Given the description of an element on the screen output the (x, y) to click on. 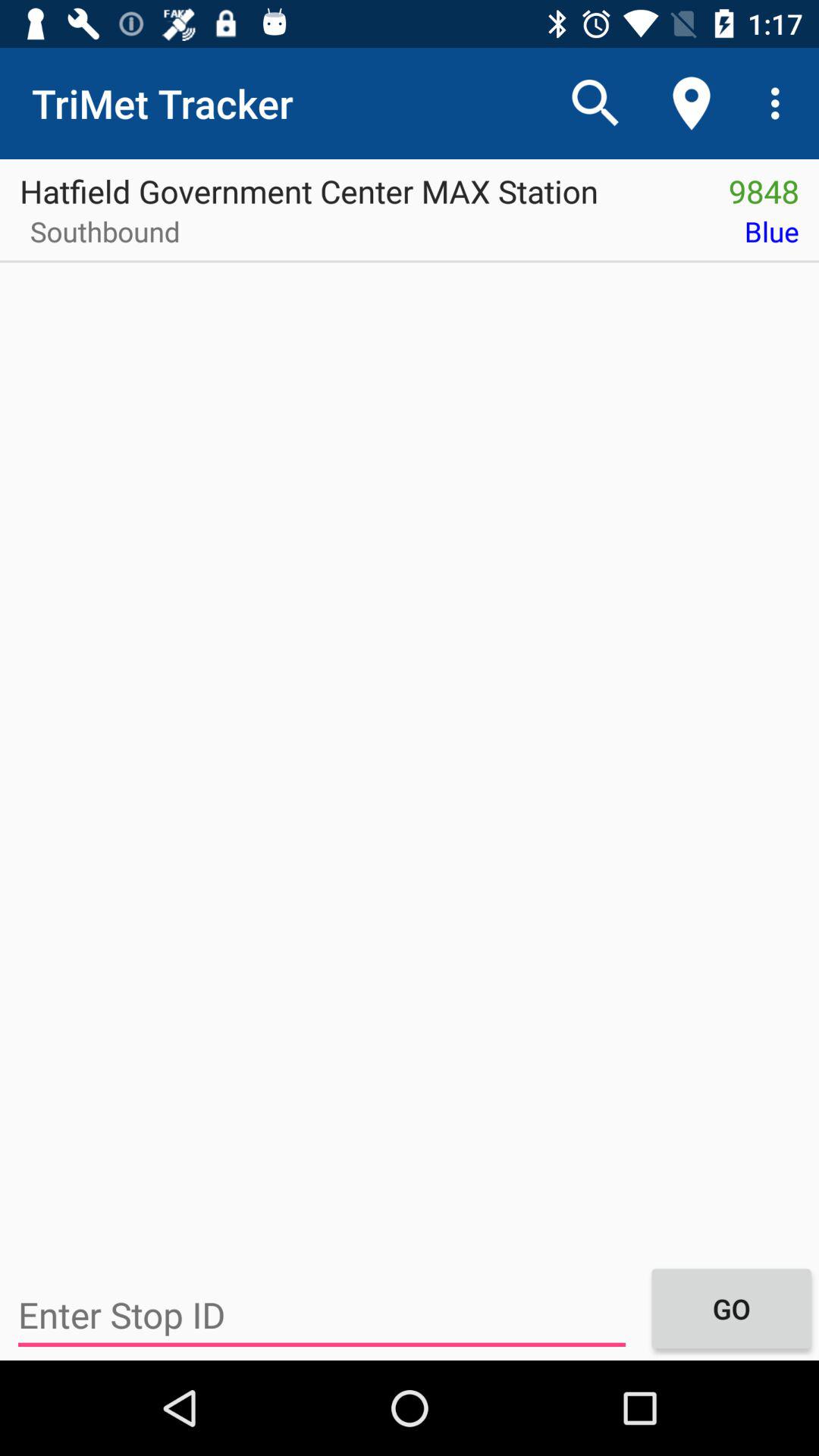
click the southbound (100, 236)
